Given the description of an element on the screen output the (x, y) to click on. 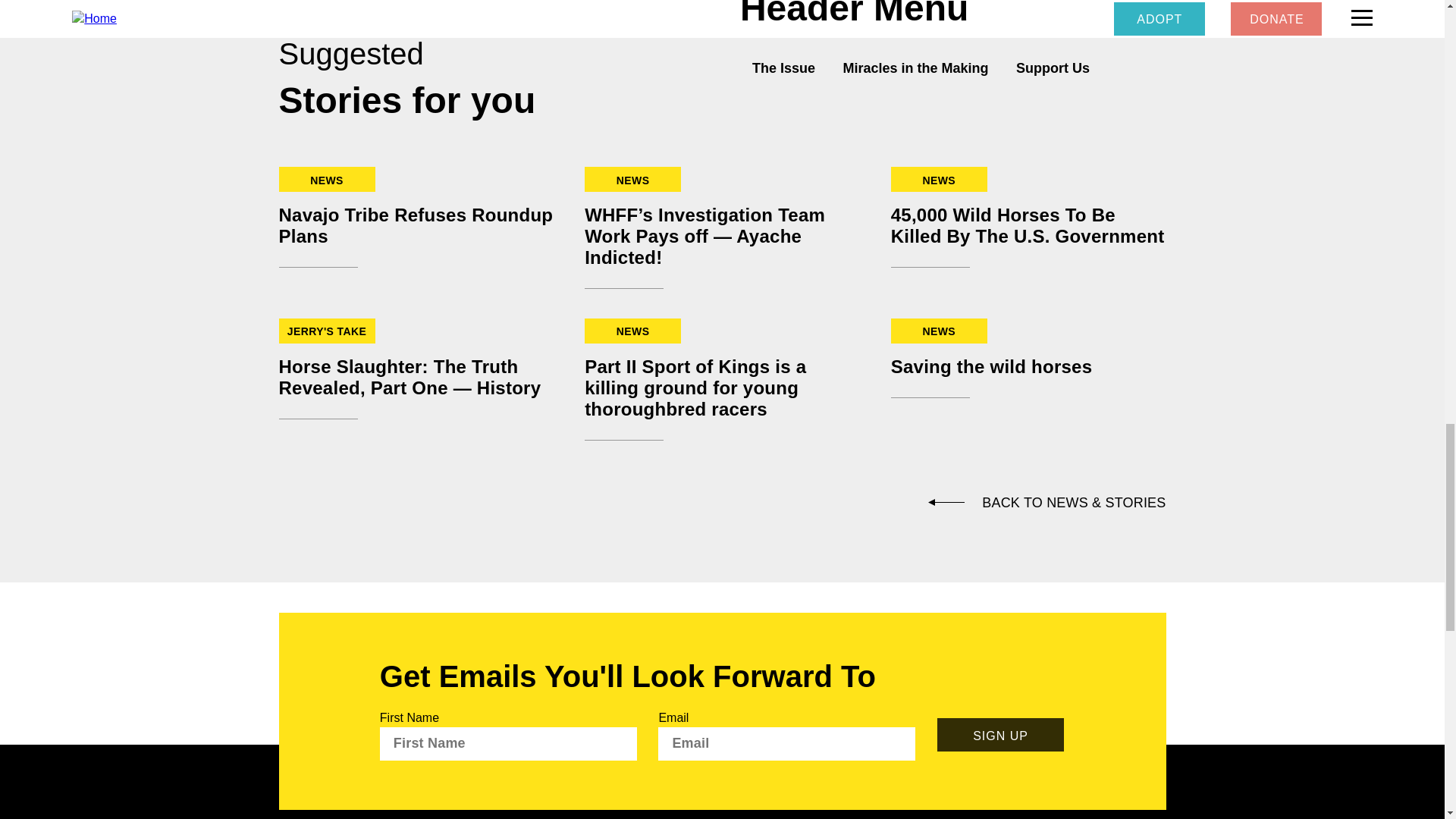
Sign Up (1000, 734)
